Given the description of an element on the screen output the (x, y) to click on. 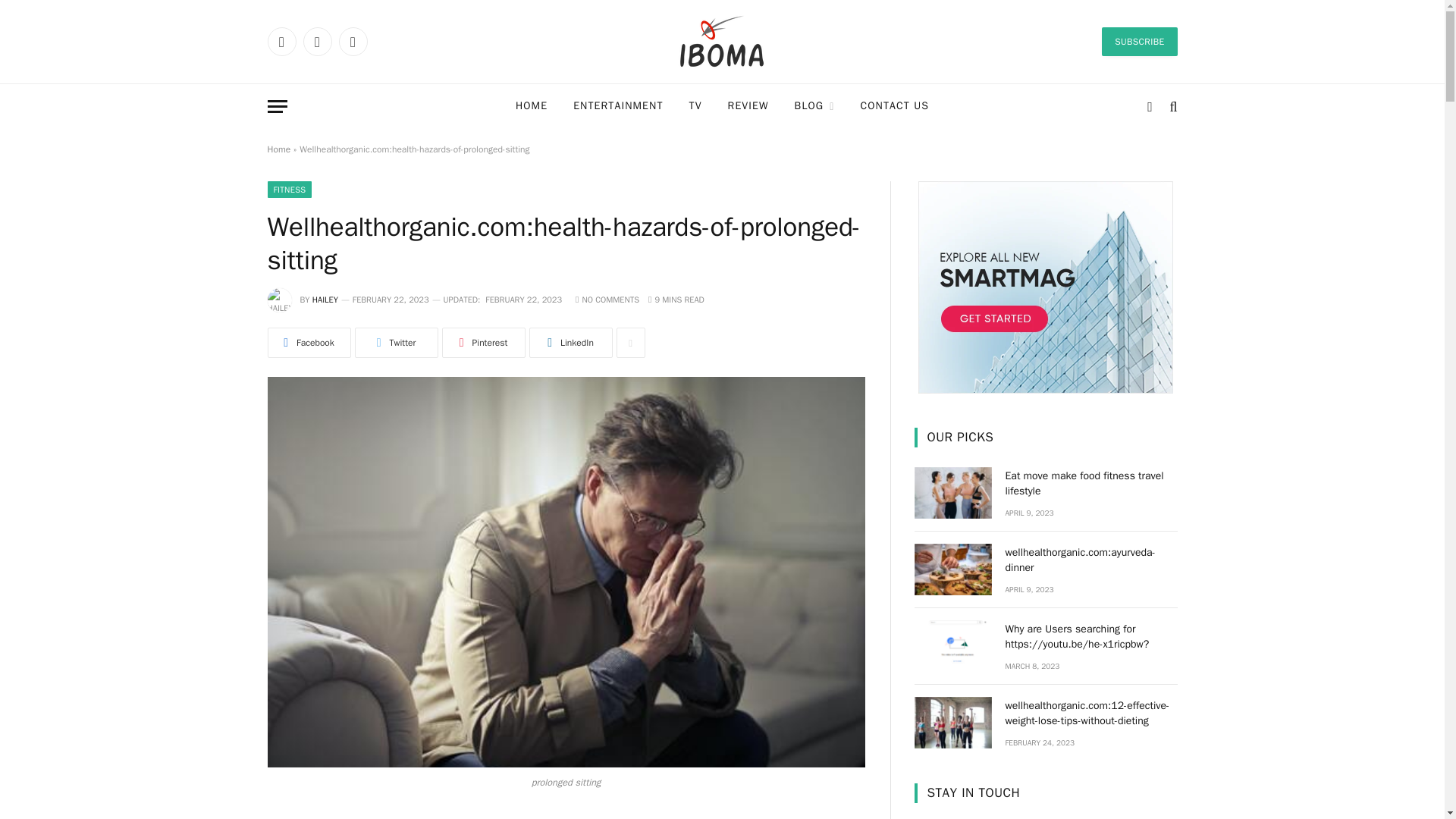
Instagram (351, 41)
Switch to Dark Design - easier on eyes. (1149, 106)
FITNESS (288, 189)
SUBSCRIBE (1139, 41)
Share on Facebook (308, 342)
Home (277, 149)
ENTERTAINMENT (617, 106)
Twitter (316, 41)
Latest informational News Hub (721, 41)
